Given the description of an element on the screen output the (x, y) to click on. 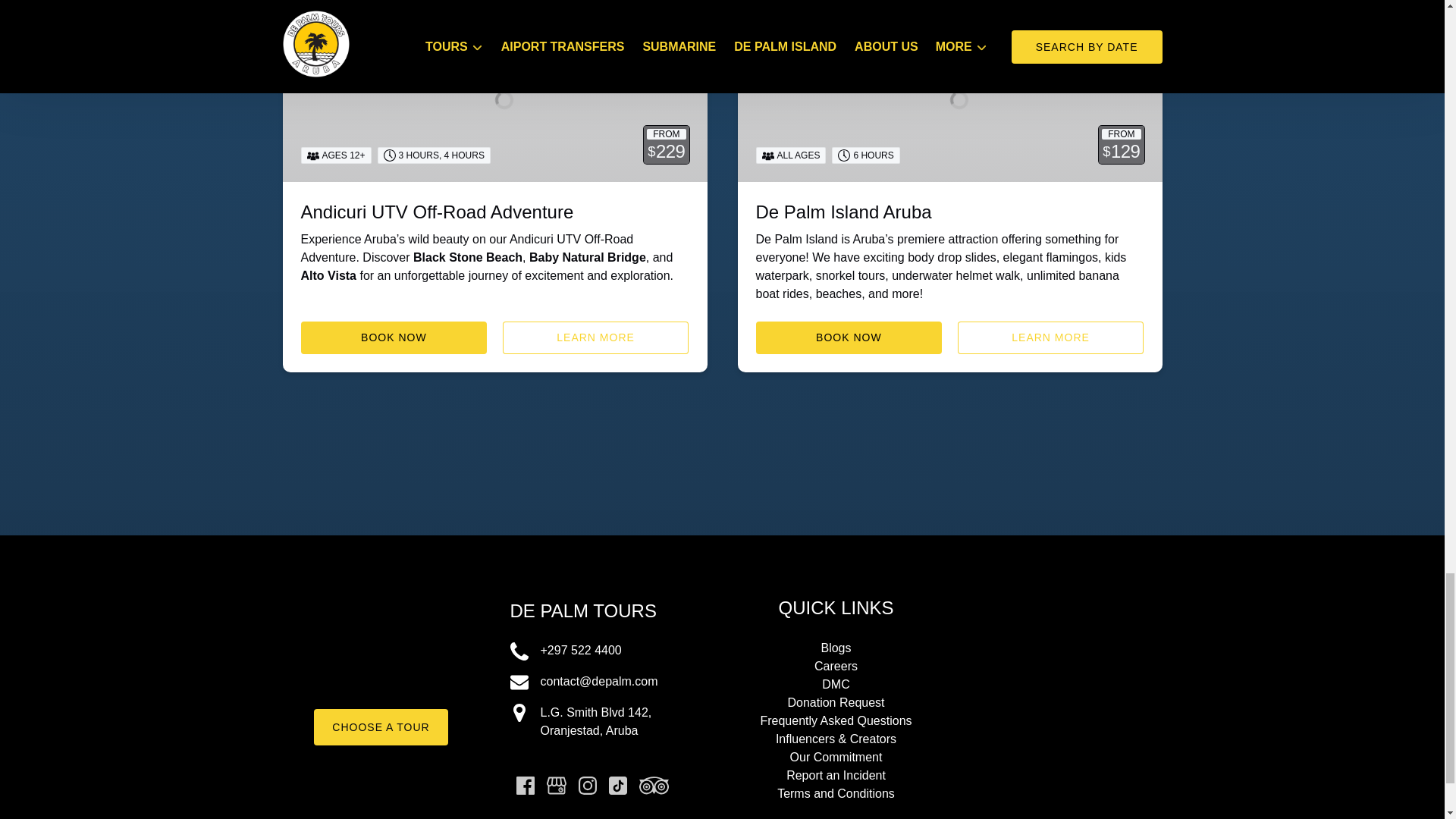
Map Marker (518, 712)
Envelope (518, 682)
Phone (518, 651)
